Given the description of an element on the screen output the (x, y) to click on. 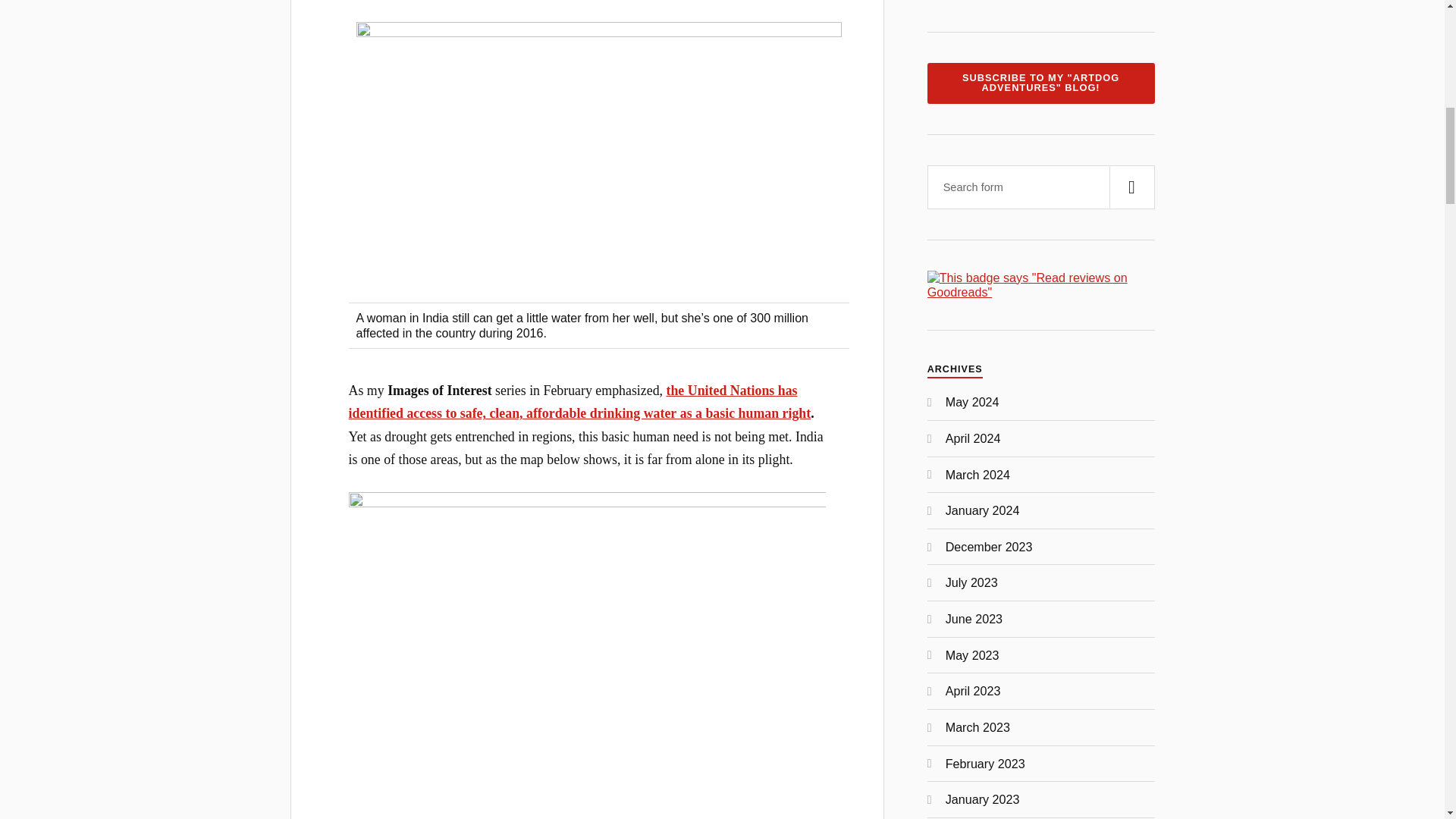
as a basic human right (744, 412)
SUBSCRIBE TO MY "ARTDOG ADVENTURES" BLOG! (1040, 83)
